Given the description of an element on the screen output the (x, y) to click on. 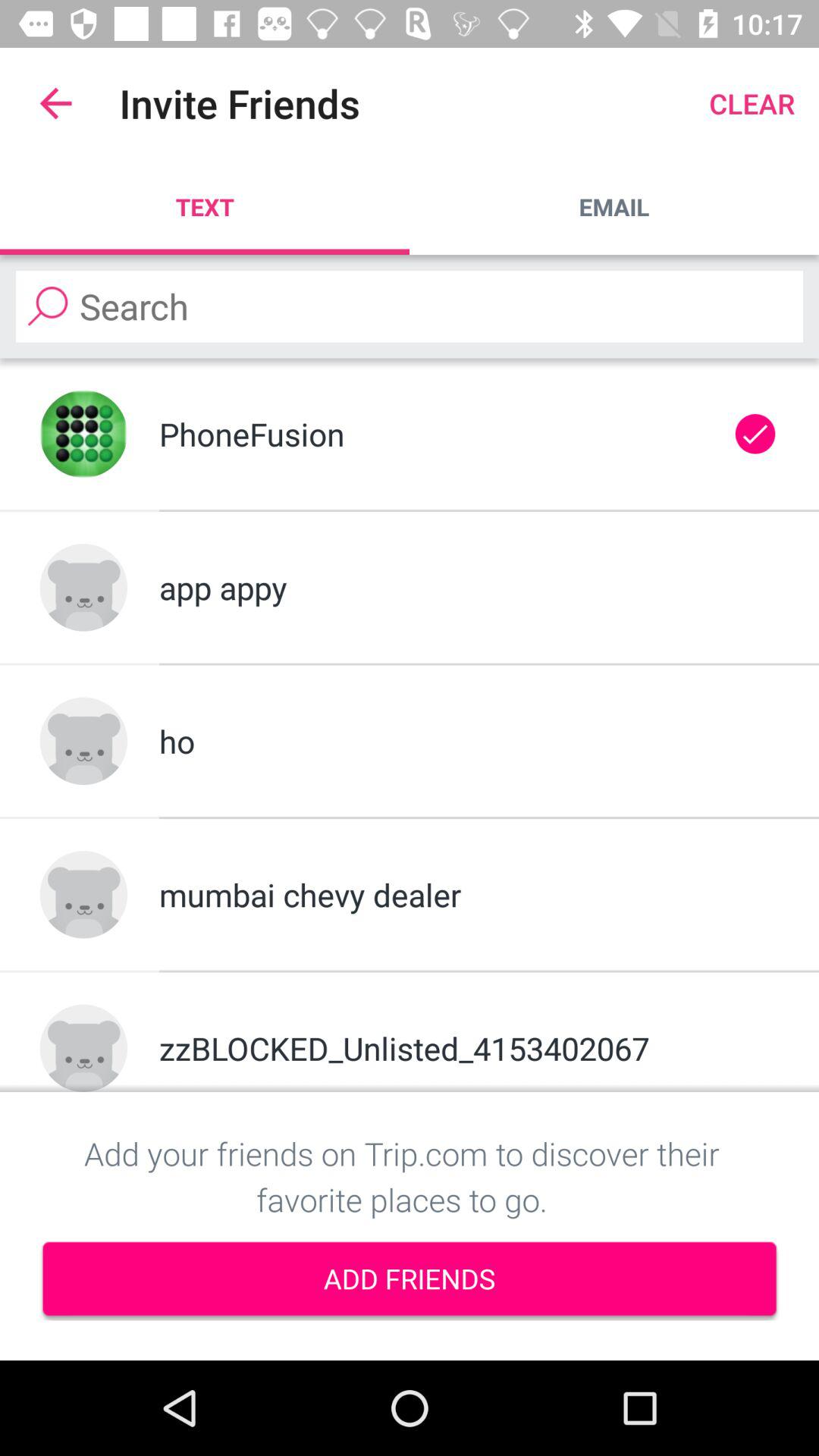
search friends (409, 306)
